Given the description of an element on the screen output the (x, y) to click on. 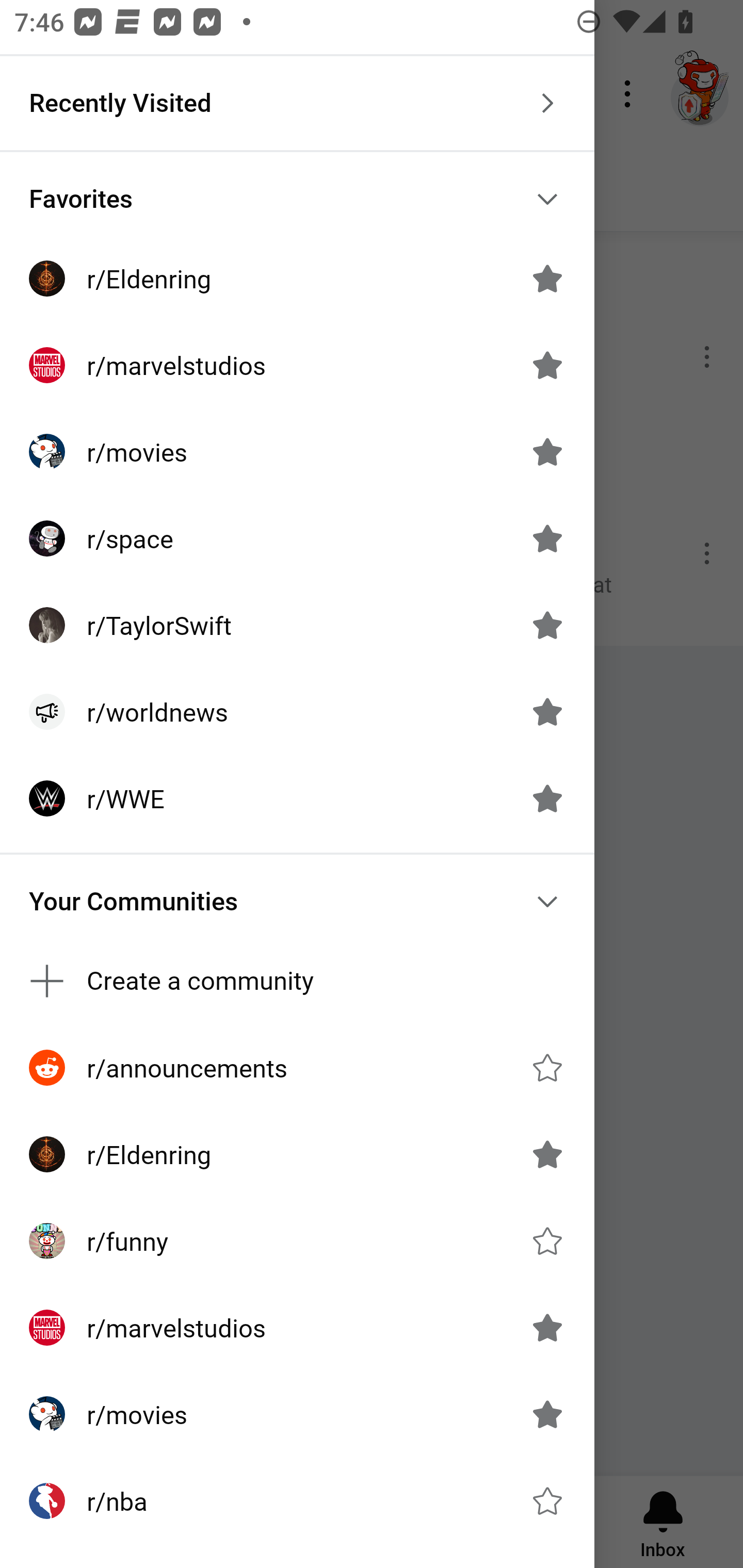
Recently Visited (297, 103)
Favorites (297, 199)
r/Eldenring Unfavorite r/Eldenring (297, 278)
Unfavorite r/Eldenring (546, 278)
r/marvelstudios Unfavorite r/marvelstudios (297, 365)
Unfavorite r/marvelstudios (546, 365)
r/movies Unfavorite r/movies (297, 452)
Unfavorite r/movies (546, 451)
r/space Unfavorite r/space (297, 538)
Unfavorite r/space (546, 538)
r/TaylorSwift Unfavorite r/TaylorSwift (297, 624)
Unfavorite r/TaylorSwift (546, 624)
r/worldnews Unfavorite r/worldnews (297, 711)
Unfavorite r/worldnews (546, 711)
r/WWE Unfavorite r/WWE (297, 798)
Unfavorite r/WWE (546, 798)
Your Communities (297, 901)
Create a community (297, 980)
r/announcements Favorite r/announcements (297, 1067)
Favorite r/announcements (546, 1067)
r/Eldenring Unfavorite r/Eldenring (297, 1154)
Unfavorite r/Eldenring (546, 1154)
r/funny Favorite r/funny (297, 1240)
Favorite r/funny (546, 1241)
r/marvelstudios Unfavorite r/marvelstudios (297, 1327)
Unfavorite r/marvelstudios (546, 1327)
r/movies Unfavorite r/movies (297, 1414)
Unfavorite r/movies (546, 1414)
r/nba Favorite r/nba (297, 1501)
Favorite r/nba (546, 1501)
